Given the description of an element on the screen output the (x, y) to click on. 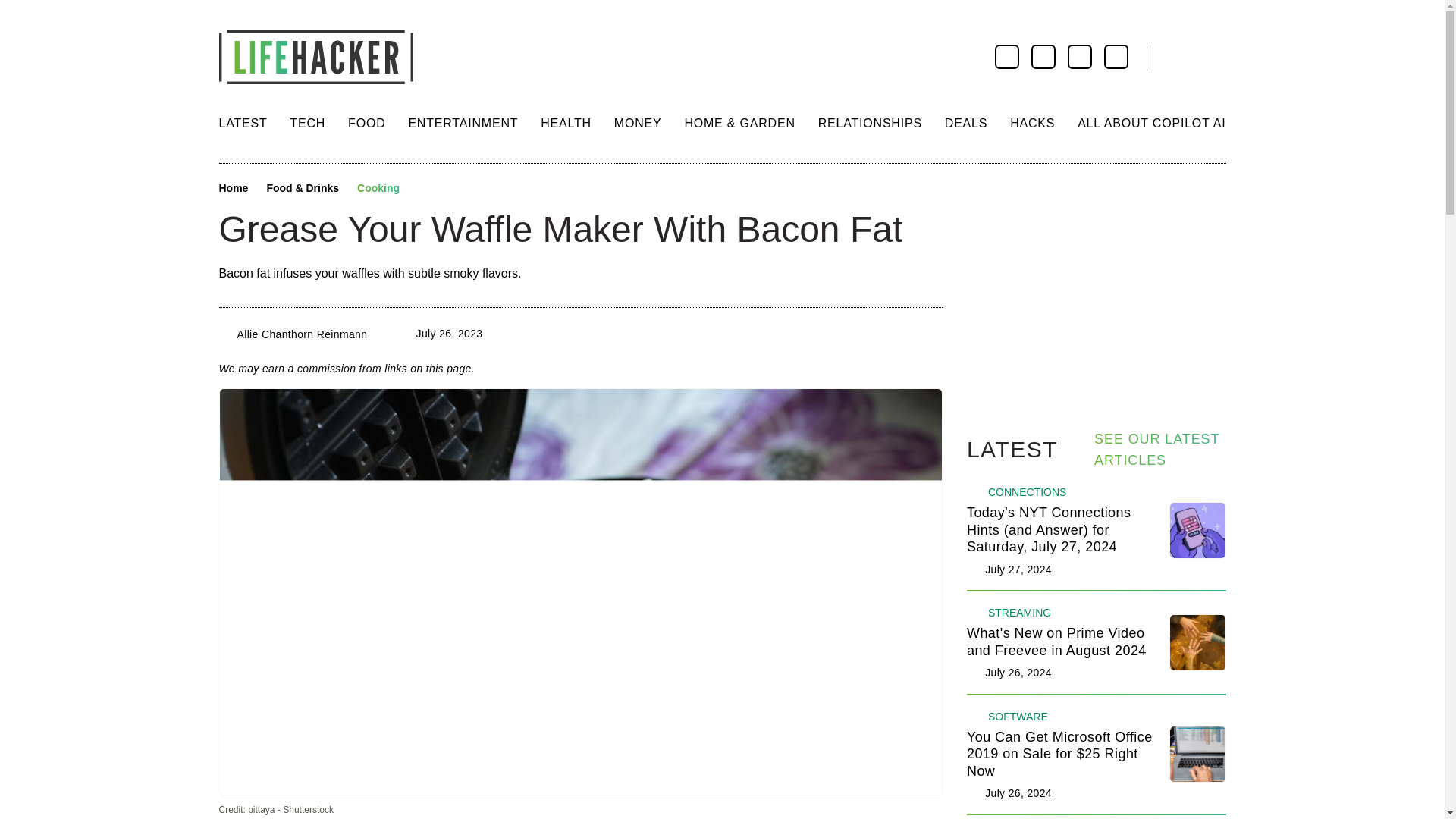
HEALTH (565, 123)
Cooking (377, 188)
MONEY (638, 123)
RELATIONSHIPS (869, 123)
Home (232, 188)
TECH (306, 123)
LATEST (242, 123)
ENTERTAINMENT (462, 123)
FOOD (366, 123)
HACKS (1032, 123)
ALL ABOUT COPILOT AI (1151, 123)
DEALS (965, 123)
